Given the description of an element on the screen output the (x, y) to click on. 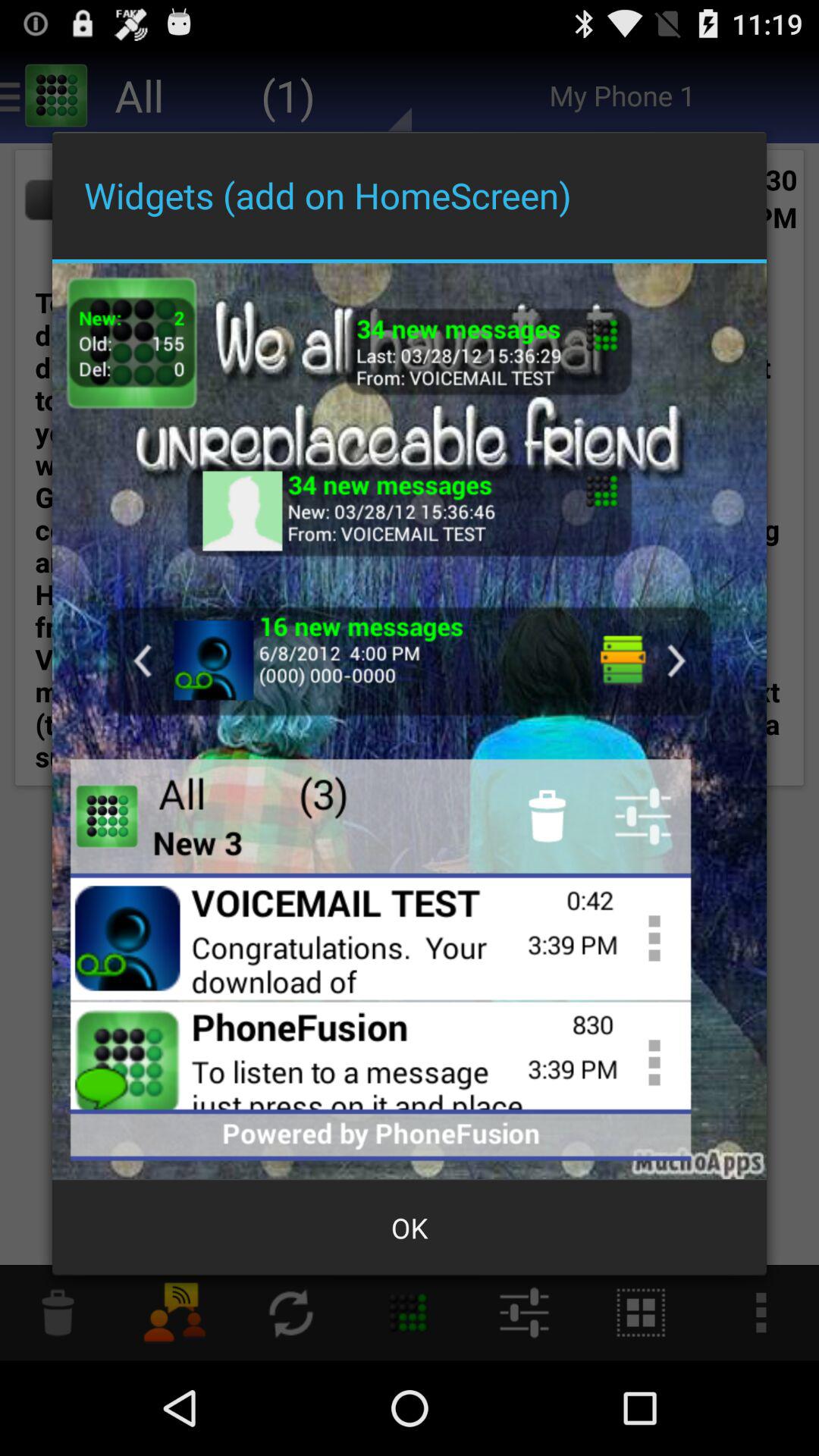
click the message igon (409, 661)
